Given the description of an element on the screen output the (x, y) to click on. 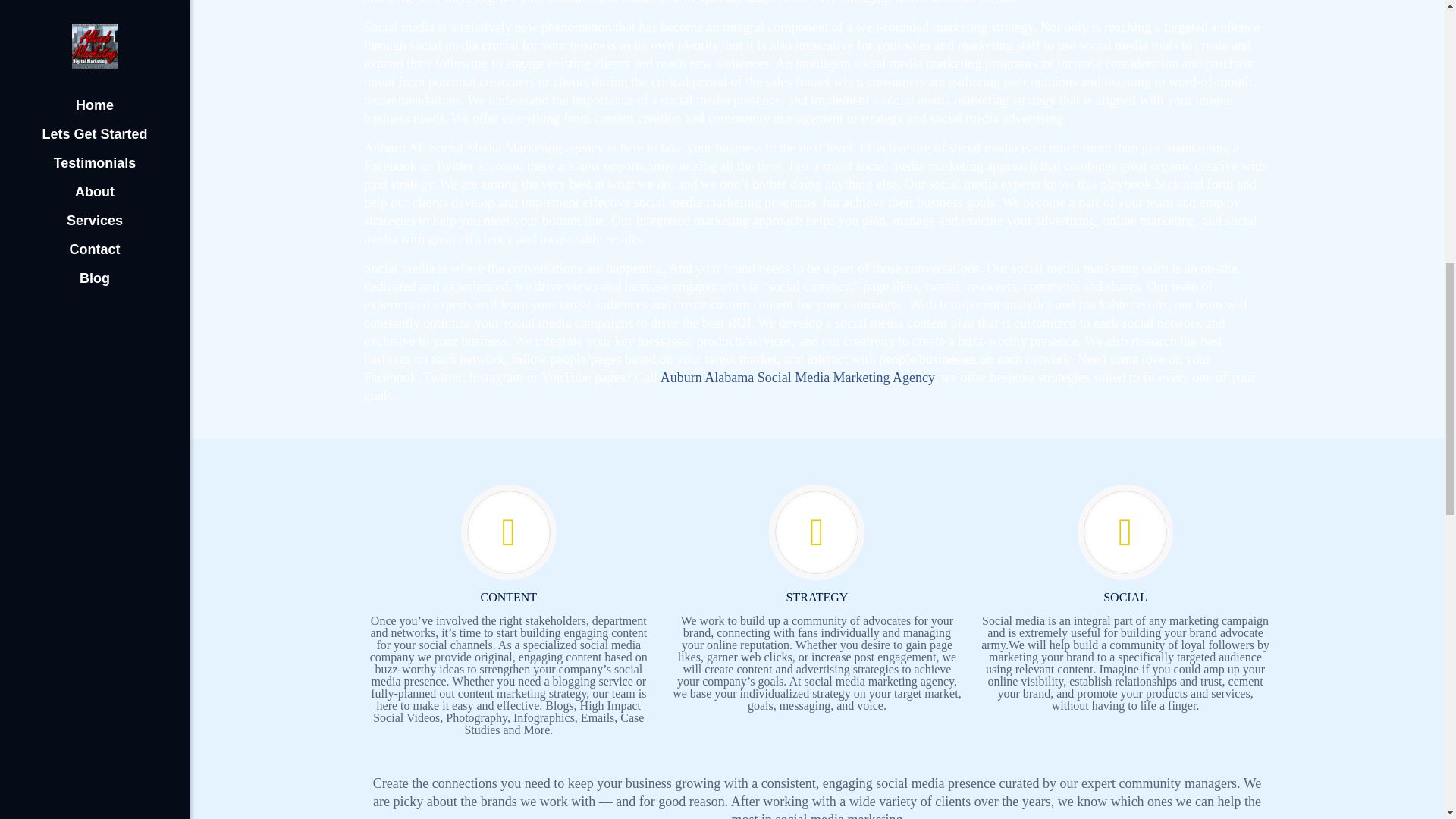
Auburn Alabama Social Media Marketing Agency (797, 377)
